Given the description of an element on the screen output the (x, y) to click on. 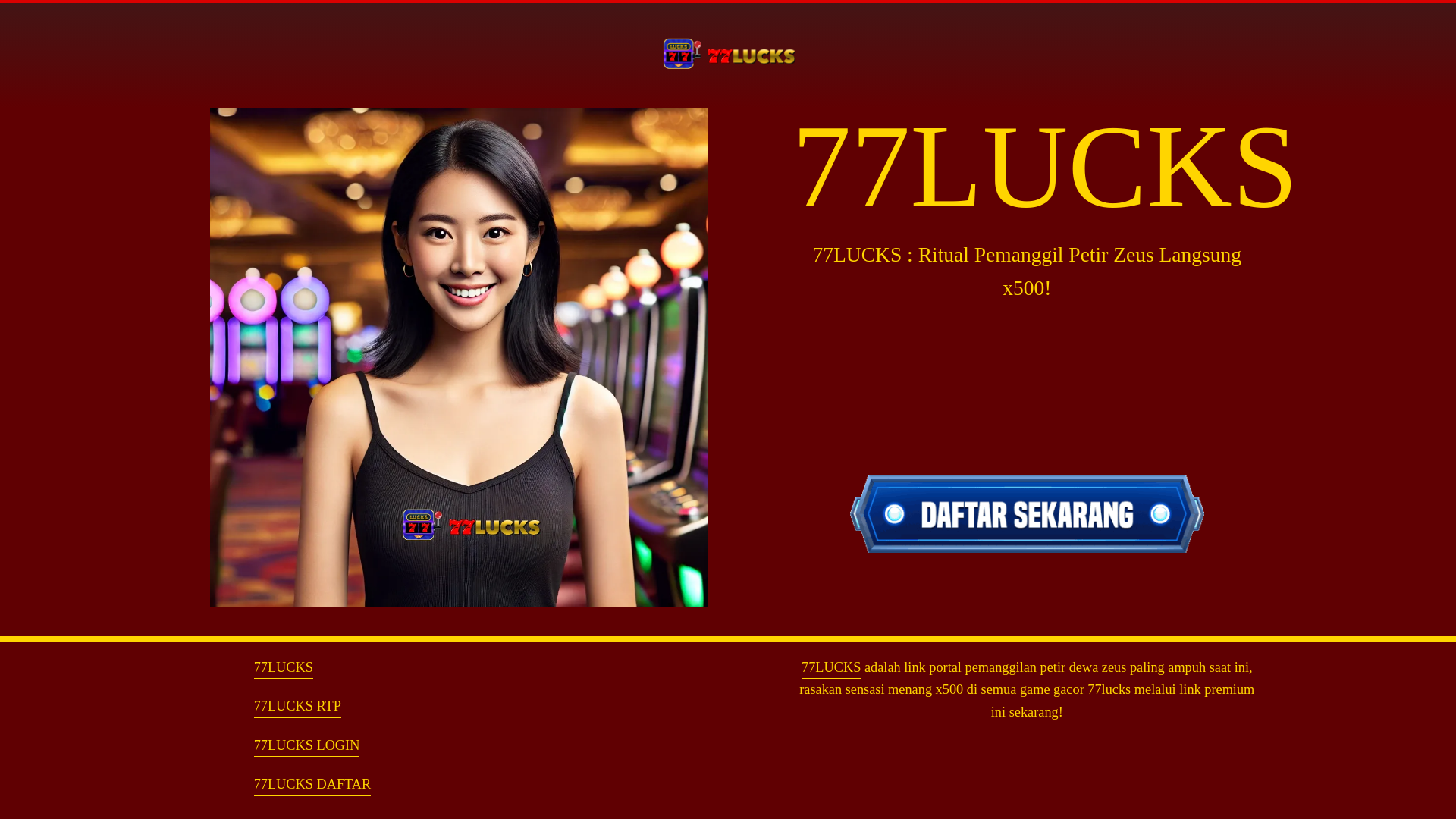
77LUCKS (831, 667)
77LUCKS DAFTAR (312, 784)
77LUCKS (283, 667)
77LUCKS LOGIN (306, 745)
77LUCKS RTP (296, 706)
